Given the description of an element on the screen output the (x, y) to click on. 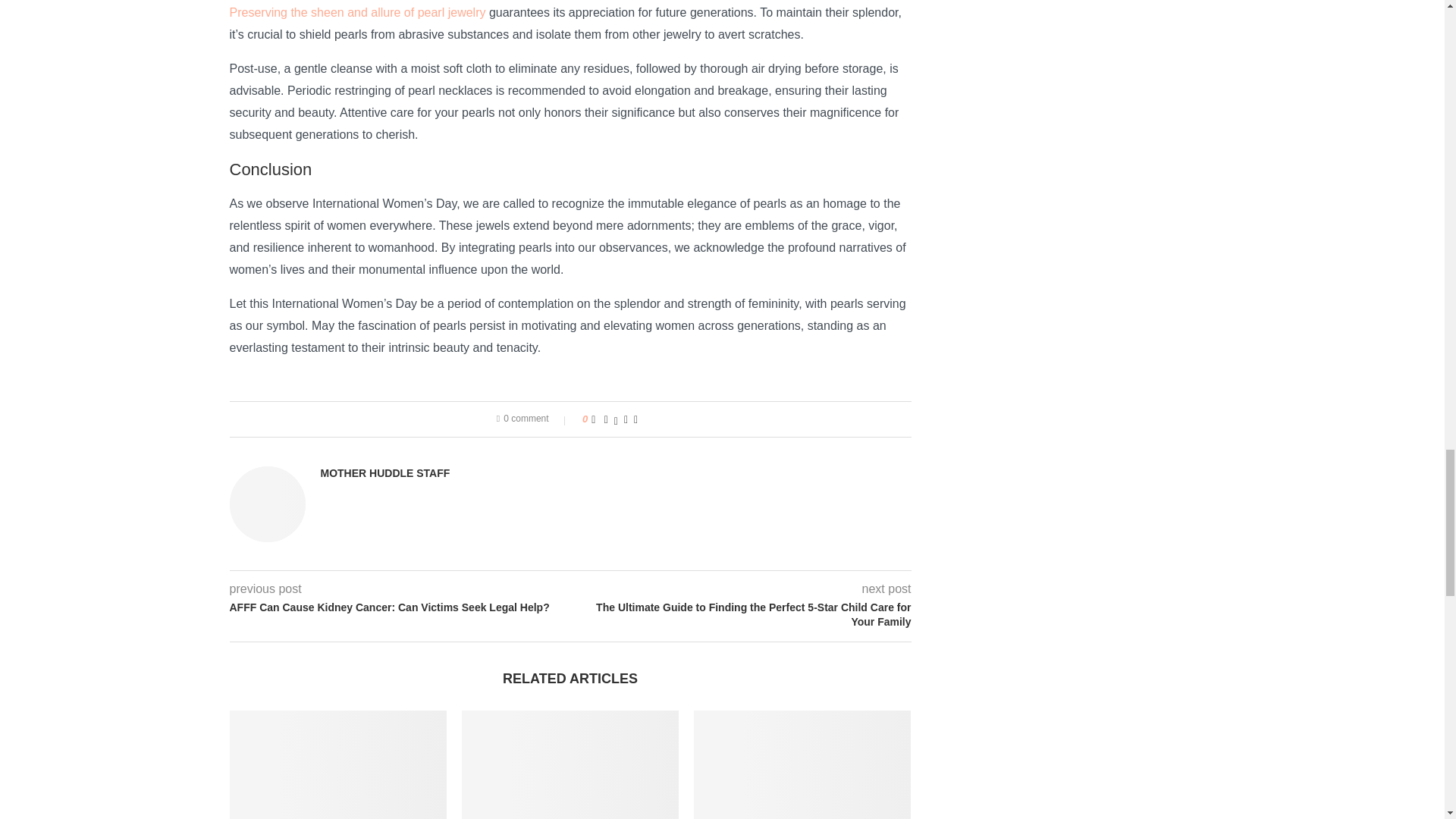
Author Mother Huddle Staff (384, 473)
Preserving the sheen and allure of pearl jewelry (356, 11)
MOTHER HUDDLE STAFF (384, 473)
AFFF Can Cause Kidney Cancer: Can Victims Seek Legal Help? (399, 607)
Innovative Small Bathroom Remodeling Ideas to Maximize Space (569, 764)
